Given the description of an element on the screen output the (x, y) to click on. 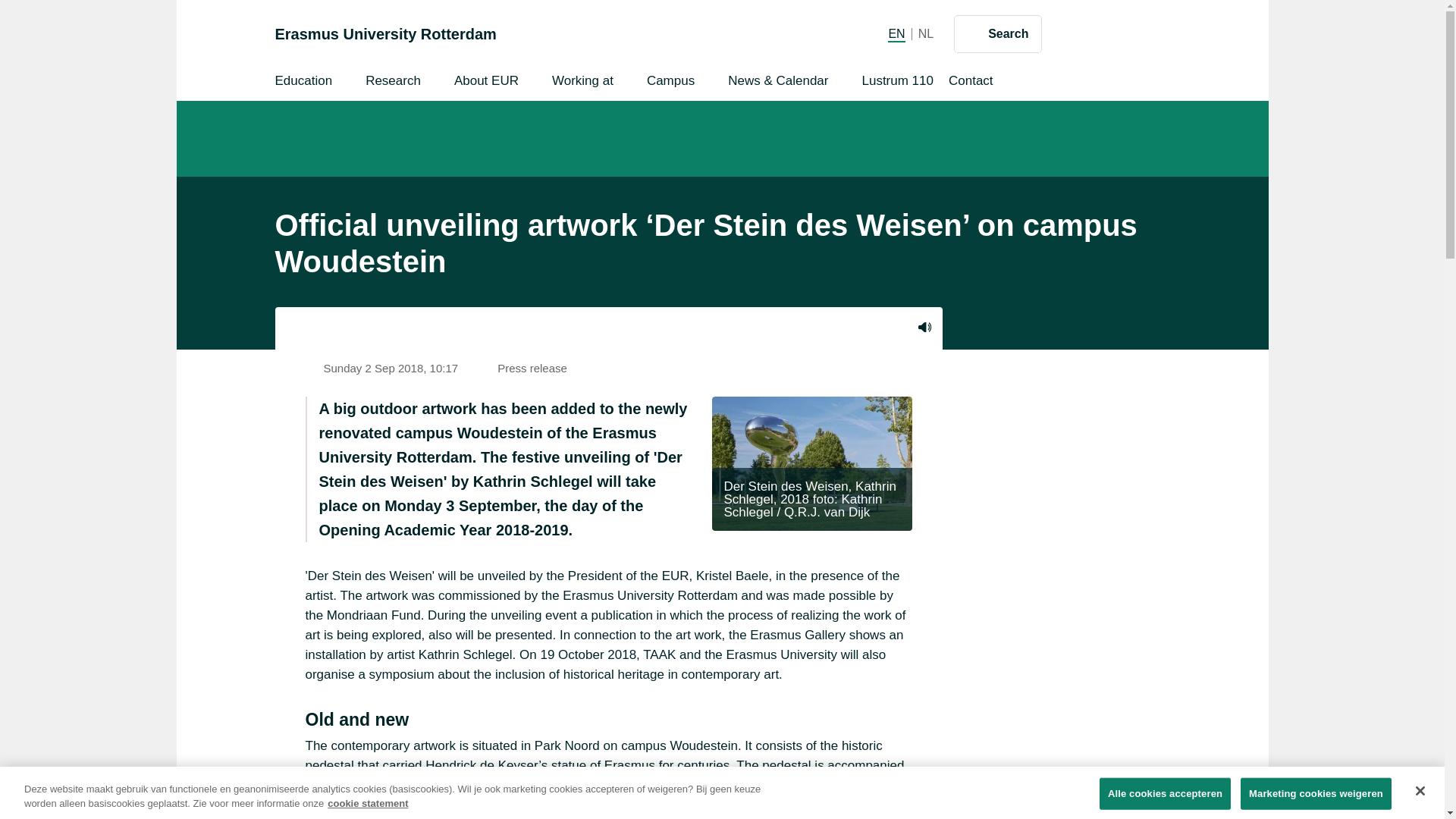
Contact (925, 33)
Search (970, 82)
Working at (998, 33)
Research (583, 82)
Campus (392, 82)
Erasmus University Rotterdam (670, 82)
About EUR (385, 33)
Listen to this page using ReadSpeaker (486, 82)
Education (923, 327)
Lustrum 110 (302, 82)
